Given the description of an element on the screen output the (x, y) to click on. 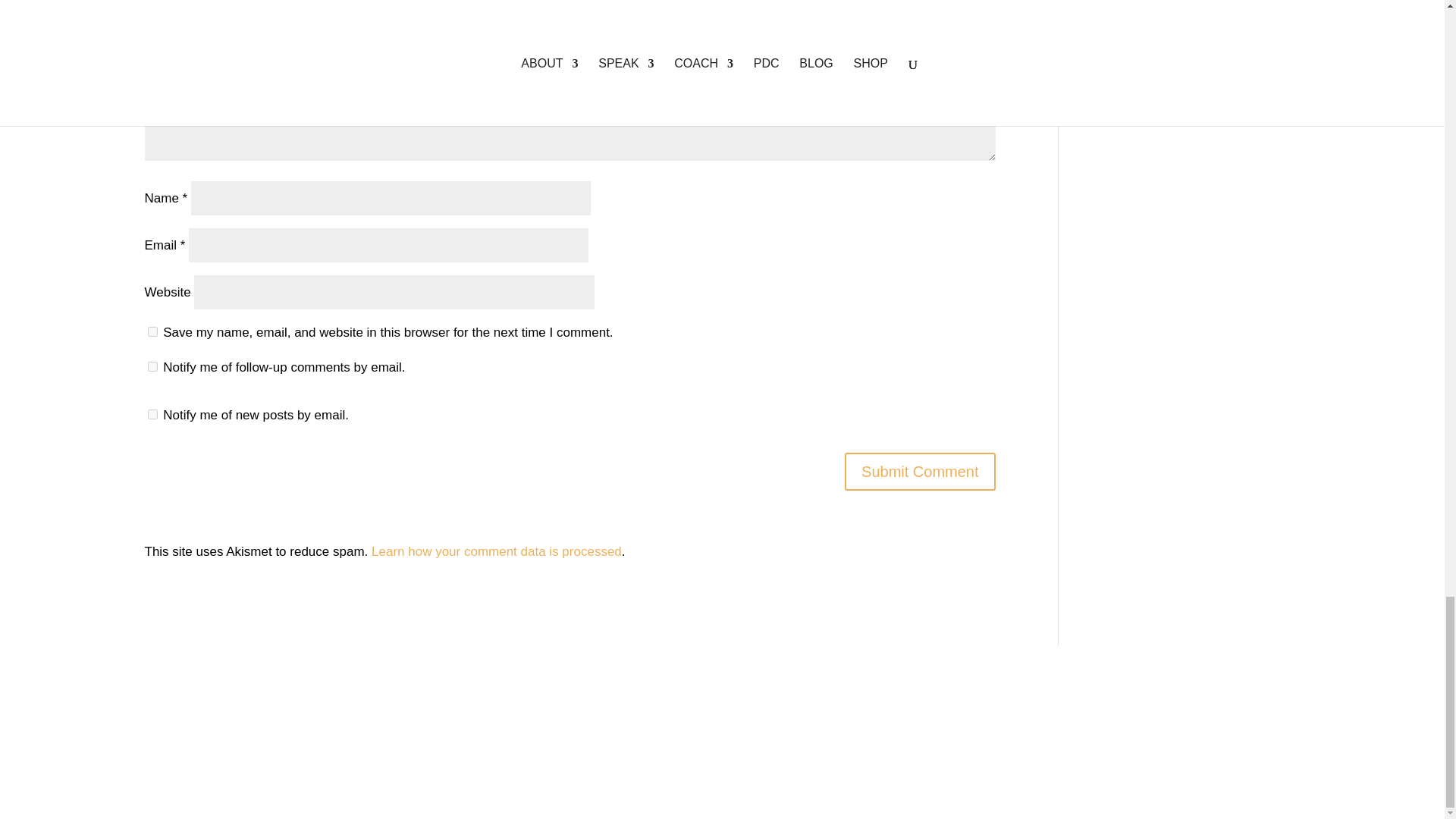
Submit Comment (919, 471)
Learn how your comment data is processed (496, 551)
Submit Comment (919, 471)
subscribe (152, 414)
subscribe (152, 366)
yes (152, 331)
